Given the description of an element on the screen output the (x, y) to click on. 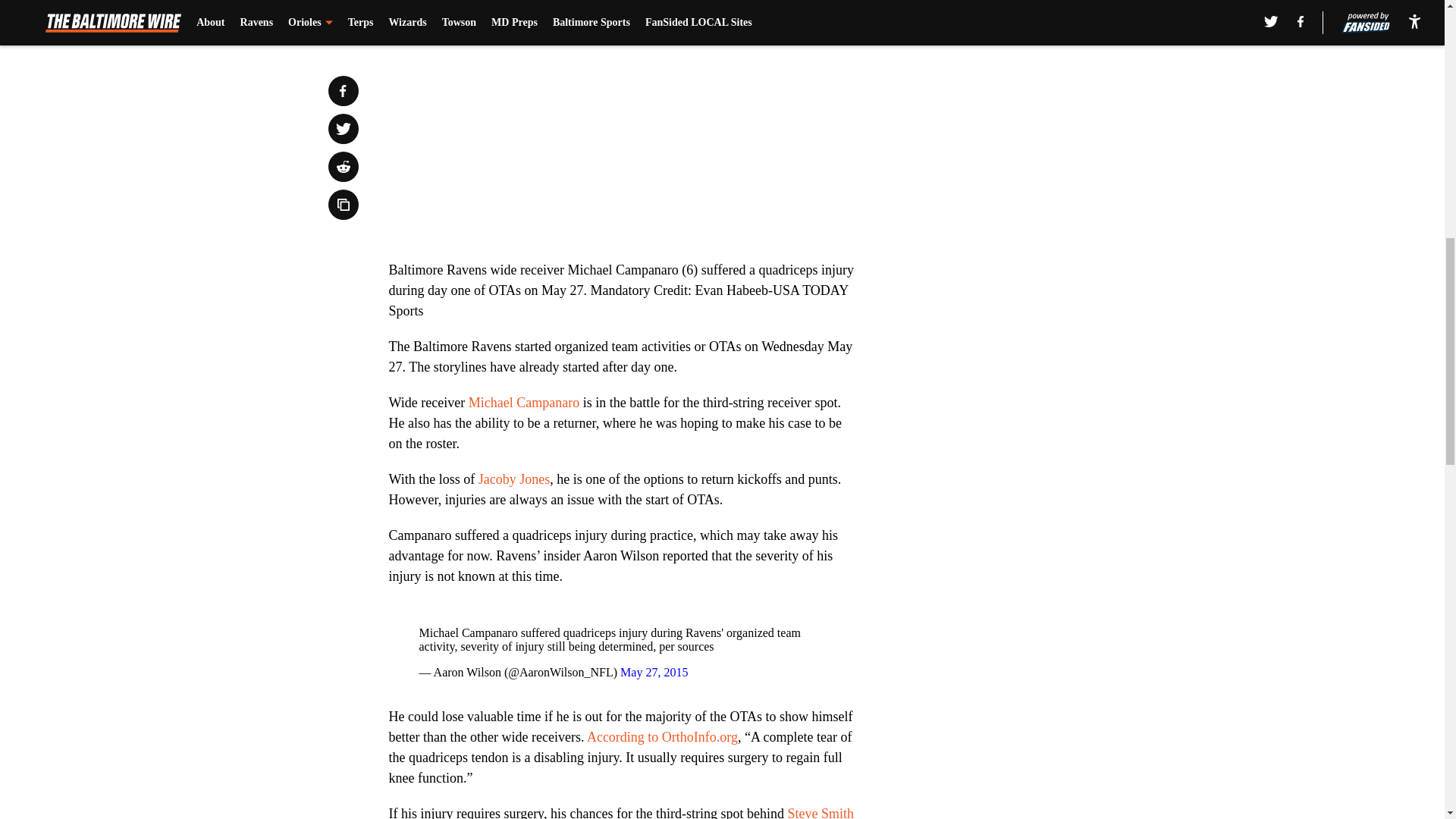
May 27, 2015 (653, 671)
Michael Campanaro (523, 402)
Steve Smith (820, 812)
Jacoby Jones (514, 478)
According to OrthoInfo.org (662, 736)
